Given the description of an element on the screen output the (x, y) to click on. 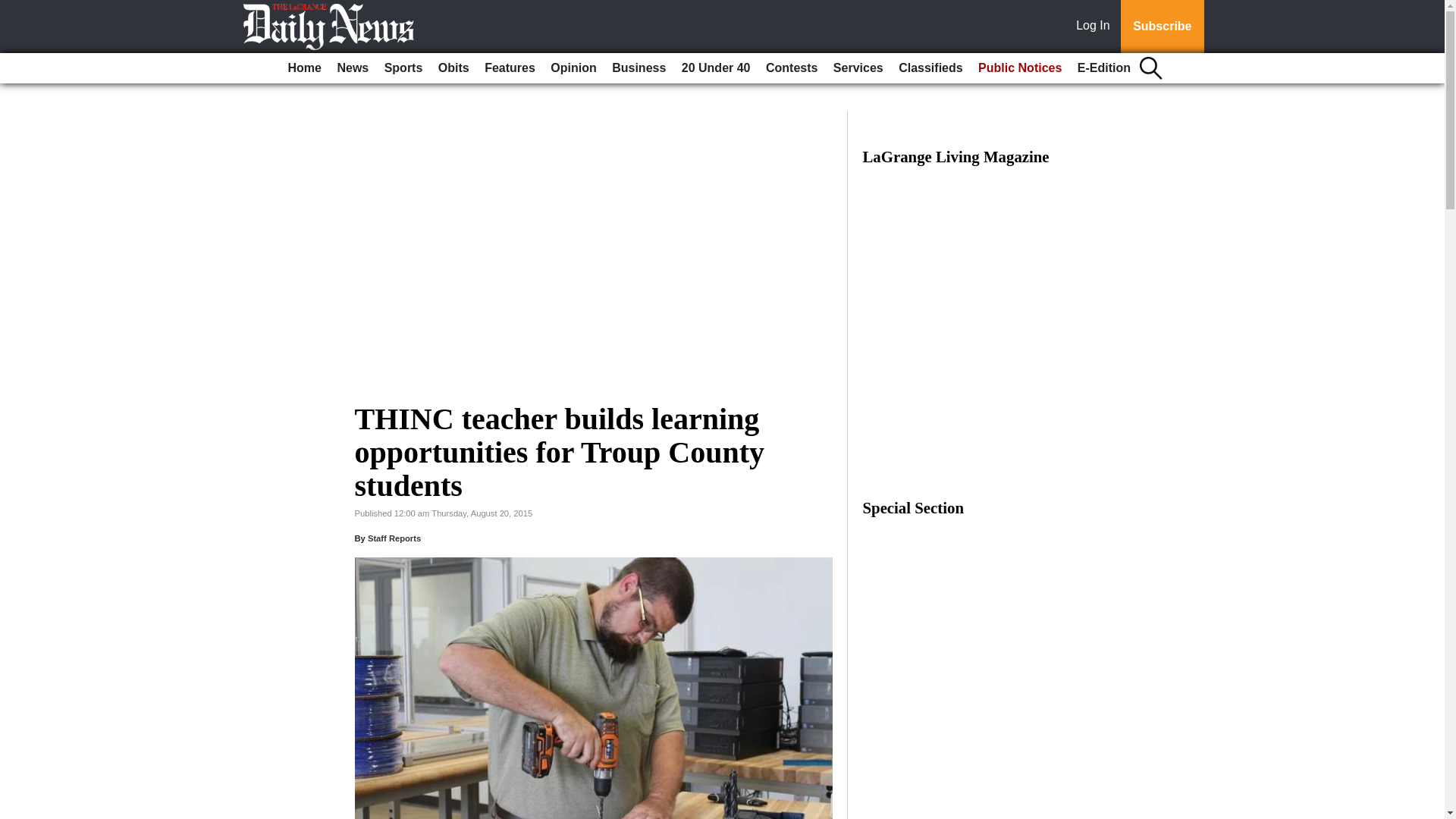
News (352, 68)
Opinion (573, 68)
20 Under 40 (716, 68)
Staff Reports (394, 537)
Sports (403, 68)
Log In (1095, 26)
Services (858, 68)
E-Edition (1104, 68)
Subscribe (1162, 26)
Features (510, 68)
Business (638, 68)
Public Notices (1019, 68)
Obits (454, 68)
Go (13, 9)
Classifieds (930, 68)
